Given the description of an element on the screen output the (x, y) to click on. 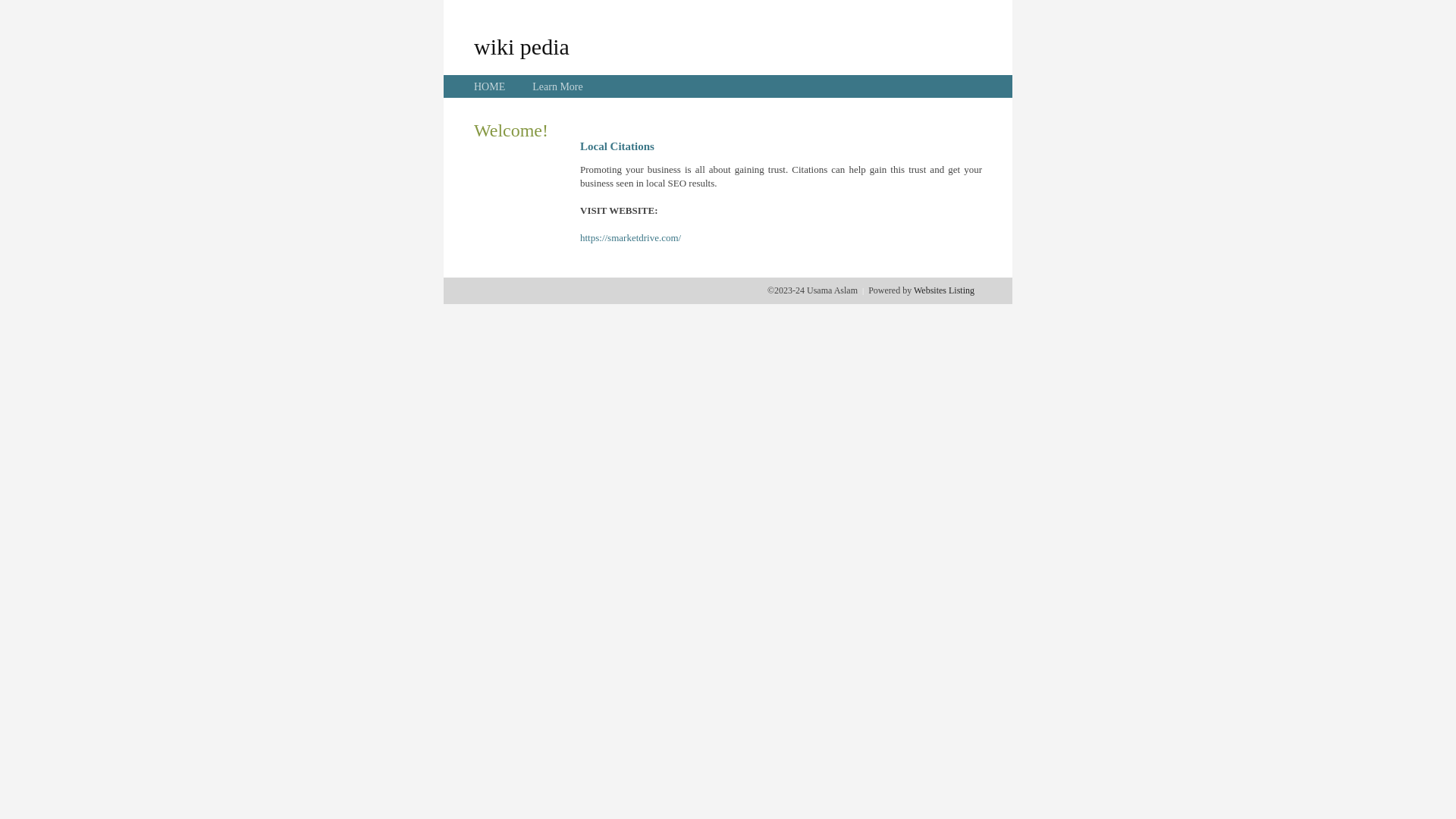
HOME Element type: text (489, 86)
Learn More Element type: text (557, 86)
Websites Listing Element type: text (943, 290)
https://smarketdrive.com/ Element type: text (630, 237)
wiki pedia Element type: text (521, 46)
